Given the description of an element on the screen output the (x, y) to click on. 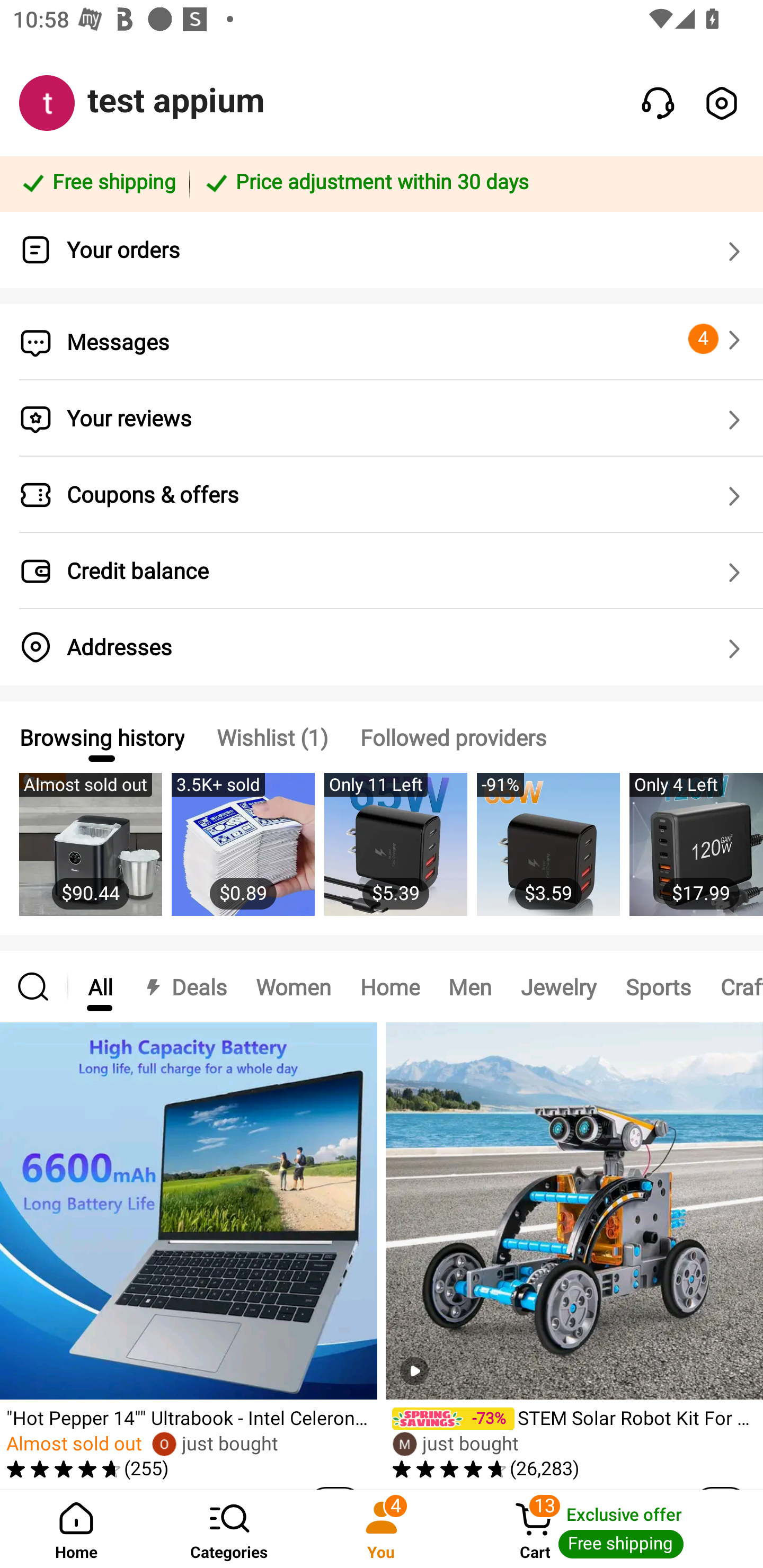
test appium (175, 100)
Free shipping (97, 183)
Price adjustment within 30 days (472, 183)
Your orders (381, 249)
Messages 4 (381, 342)
4 (717, 339)
Your reviews (381, 418)
Coupons & offers (381, 494)
Credit balance (381, 571)
Addresses (381, 647)
Browsing history (101, 736)
Wishlist (1) (271, 736)
Followed providers (453, 736)
Almost sold out $90.44 (90, 853)
3.5K+ sold $0.89 (242, 853)
Only 11 Left $5.39 (395, 853)
-91% $3.59 (547, 853)
Only 4 Left $17.99 (696, 853)
All (99, 986)
Deals Deals Deals (183, 986)
Women (293, 986)
Home (389, 986)
Men (469, 986)
Jewelry (558, 986)
Sports (658, 986)
Home (76, 1528)
Categories (228, 1528)
You 4 You (381, 1528)
Cart 13 Cart Exclusive offer (610, 1528)
